Given the description of an element on the screen output the (x, y) to click on. 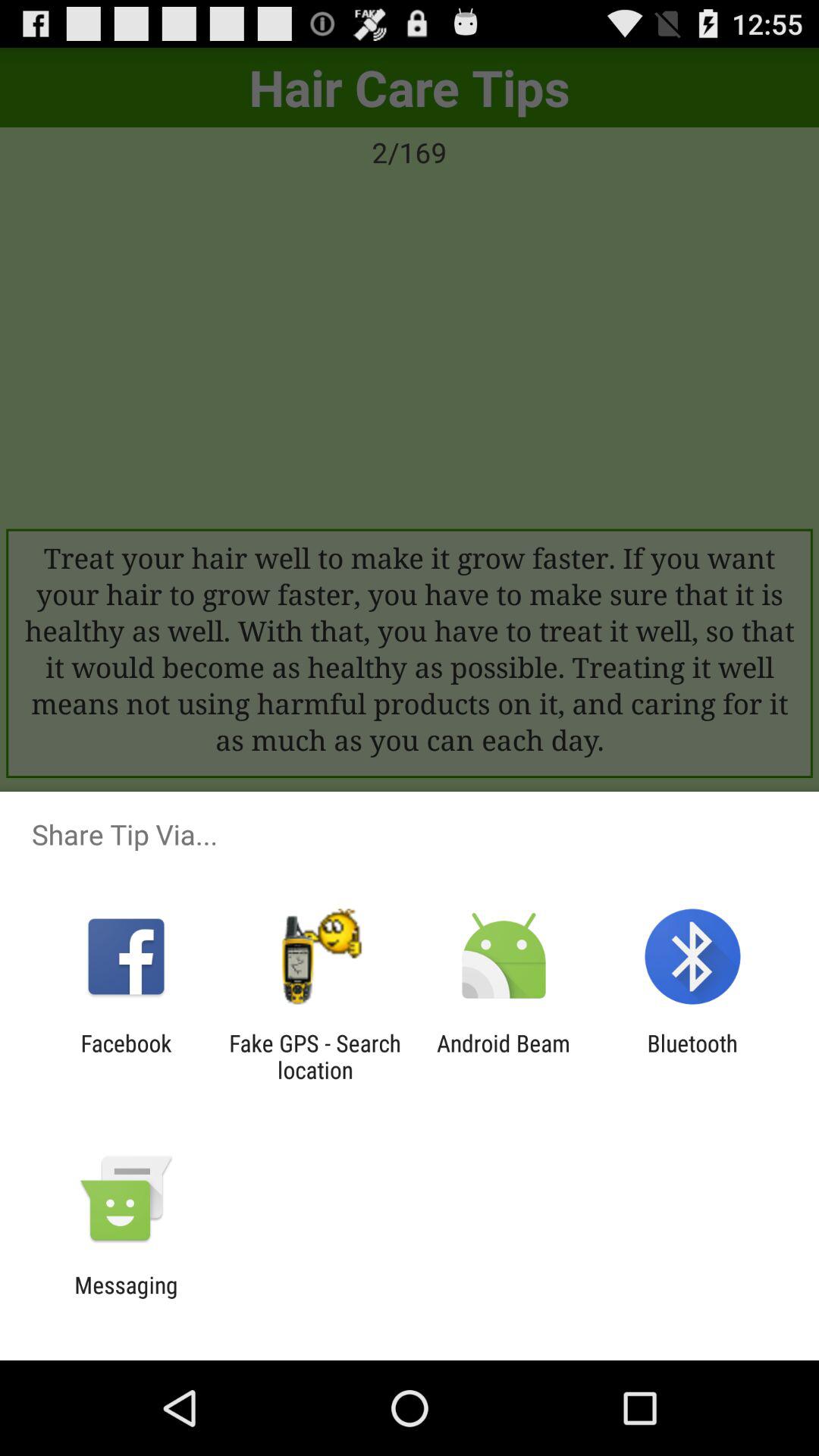
swipe until the facebook app (125, 1056)
